Given the description of an element on the screen output the (x, y) to click on. 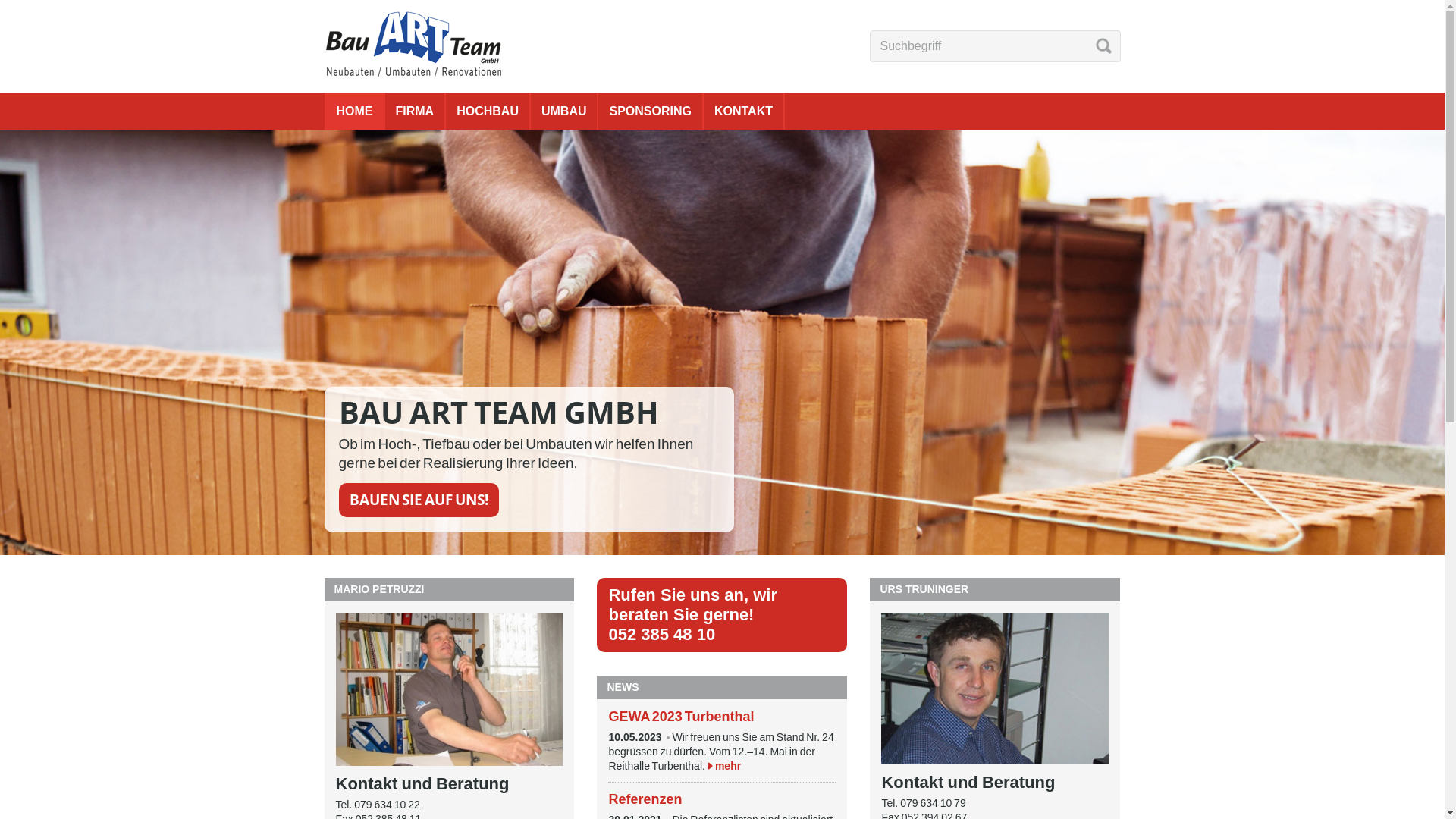
HOCHBAU Element type: text (487, 110)
mehr Element type: text (727, 765)
GEWA 2023 Turbenthal Element type: text (680, 716)
UMBAU Element type: text (563, 110)
Referenzen Element type: text (644, 798)
FIRMA Element type: text (415, 110)
HOME Element type: text (354, 110)
KONTAKT Element type: text (743, 110)
Rufen Sie uns an, wir beraten Sie gerne!
052 385 48 10 Element type: text (721, 614)
BAUEN SIE AUF UNS! Element type: text (418, 500)
go Element type: text (1102, 45)
SPONSORING Element type: text (649, 110)
